Given the description of an element on the screen output the (x, y) to click on. 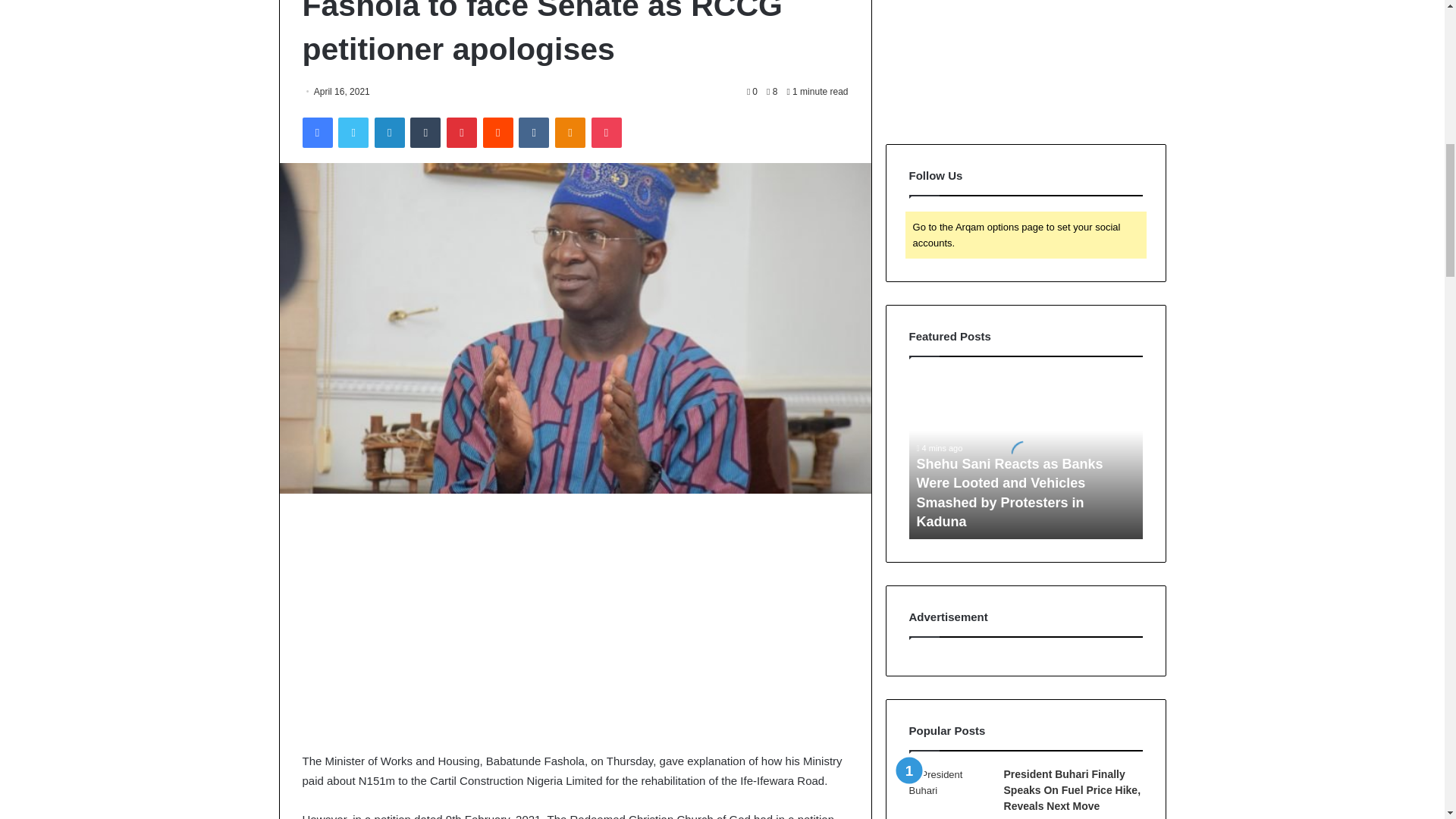
Advertisement (574, 622)
Twitter (352, 132)
VKontakte (533, 132)
Facebook (316, 132)
Tumblr (425, 132)
LinkedIn (389, 132)
Pinterest (461, 132)
Odnoklassniki (569, 132)
Twitter (352, 132)
Reddit (498, 132)
Pinterest (461, 132)
Tumblr (425, 132)
LinkedIn (389, 132)
Facebook (316, 132)
Odnoklassniki (569, 132)
